Given the description of an element on the screen output the (x, y) to click on. 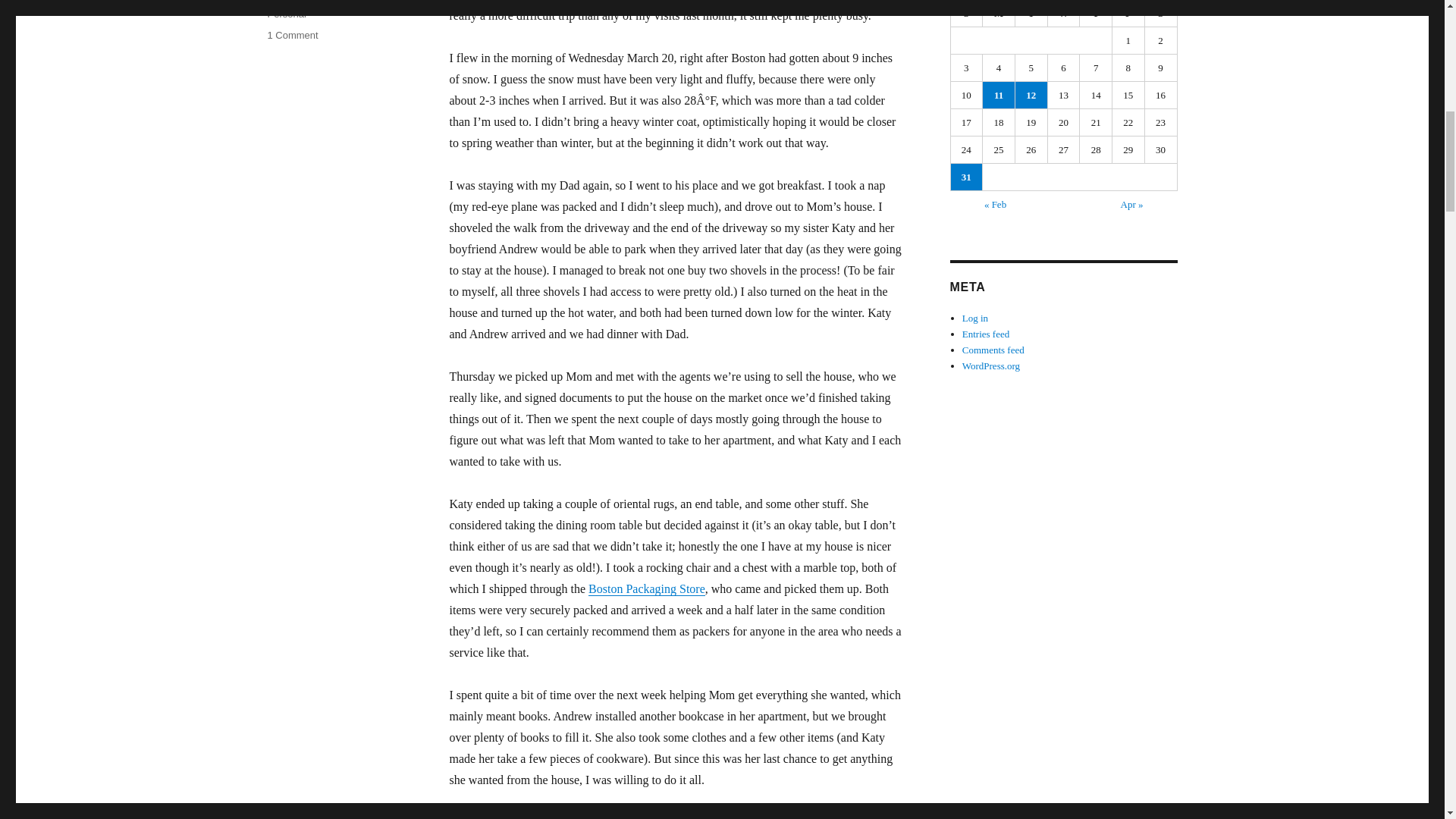
Thursday (1096, 13)
31 (966, 176)
Monday (998, 13)
Saturday (1160, 13)
Friday (1128, 13)
Personal (285, 13)
Log in (975, 317)
Boston Packaging Store (646, 588)
11 (998, 94)
Tuesday (1031, 13)
Wednesday (1064, 13)
12 (291, 34)
Sunday (1030, 94)
